Given the description of an element on the screen output the (x, y) to click on. 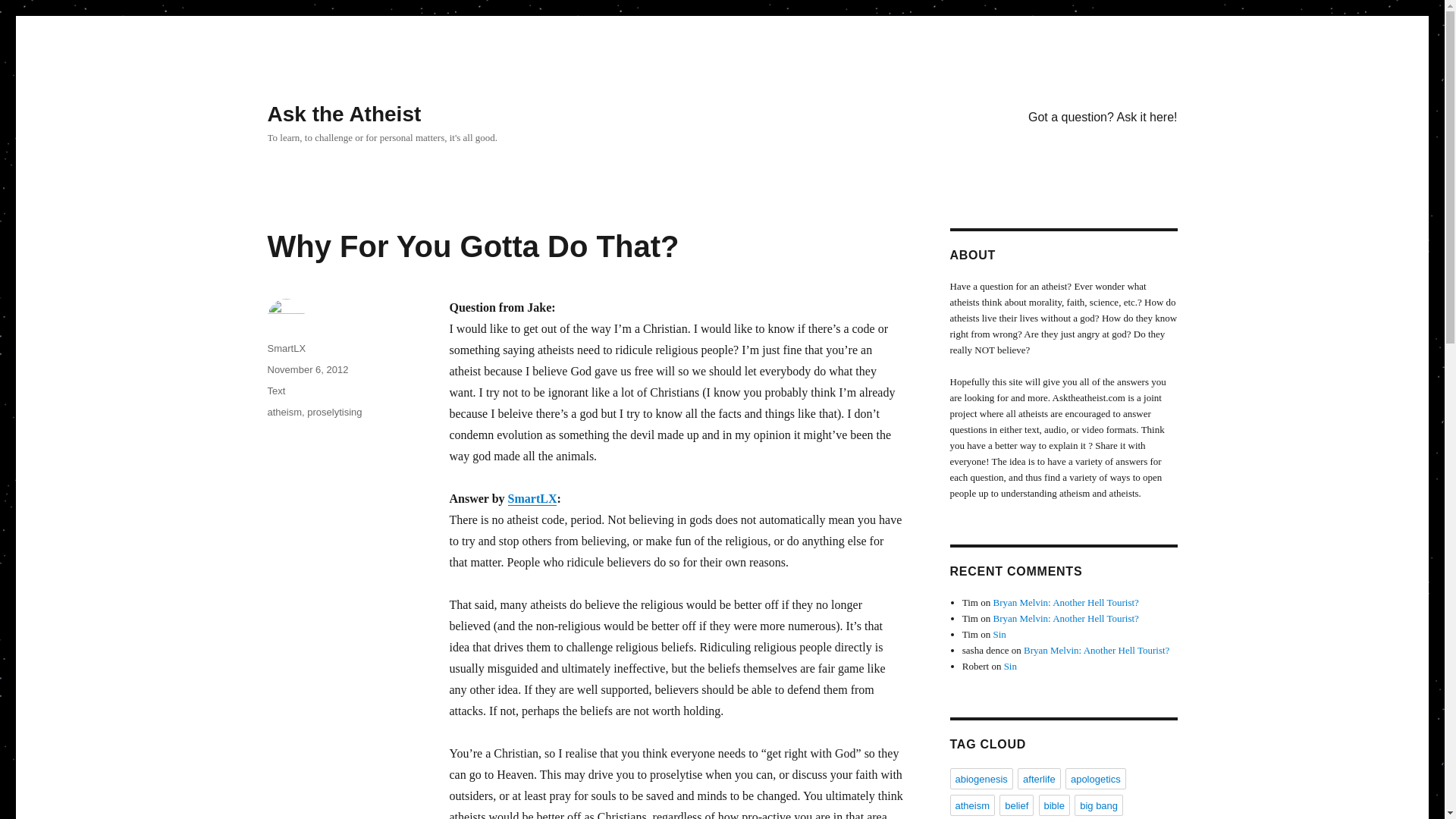
SmartLX (532, 498)
atheism (971, 804)
SmartLX (285, 348)
proselytising (334, 411)
November 6, 2012 (306, 369)
bible (1054, 804)
big bang (1098, 804)
afterlife (1039, 778)
Text (275, 390)
Bryan Melvin: Another Hell Tourist? (1065, 602)
Ask the Atheist (343, 114)
atheism (283, 411)
Bryan Melvin: Another Hell Tourist? (1065, 618)
apologetics (1095, 778)
Bryan Melvin: Another Hell Tourist? (1096, 650)
